Given the description of an element on the screen output the (x, y) to click on. 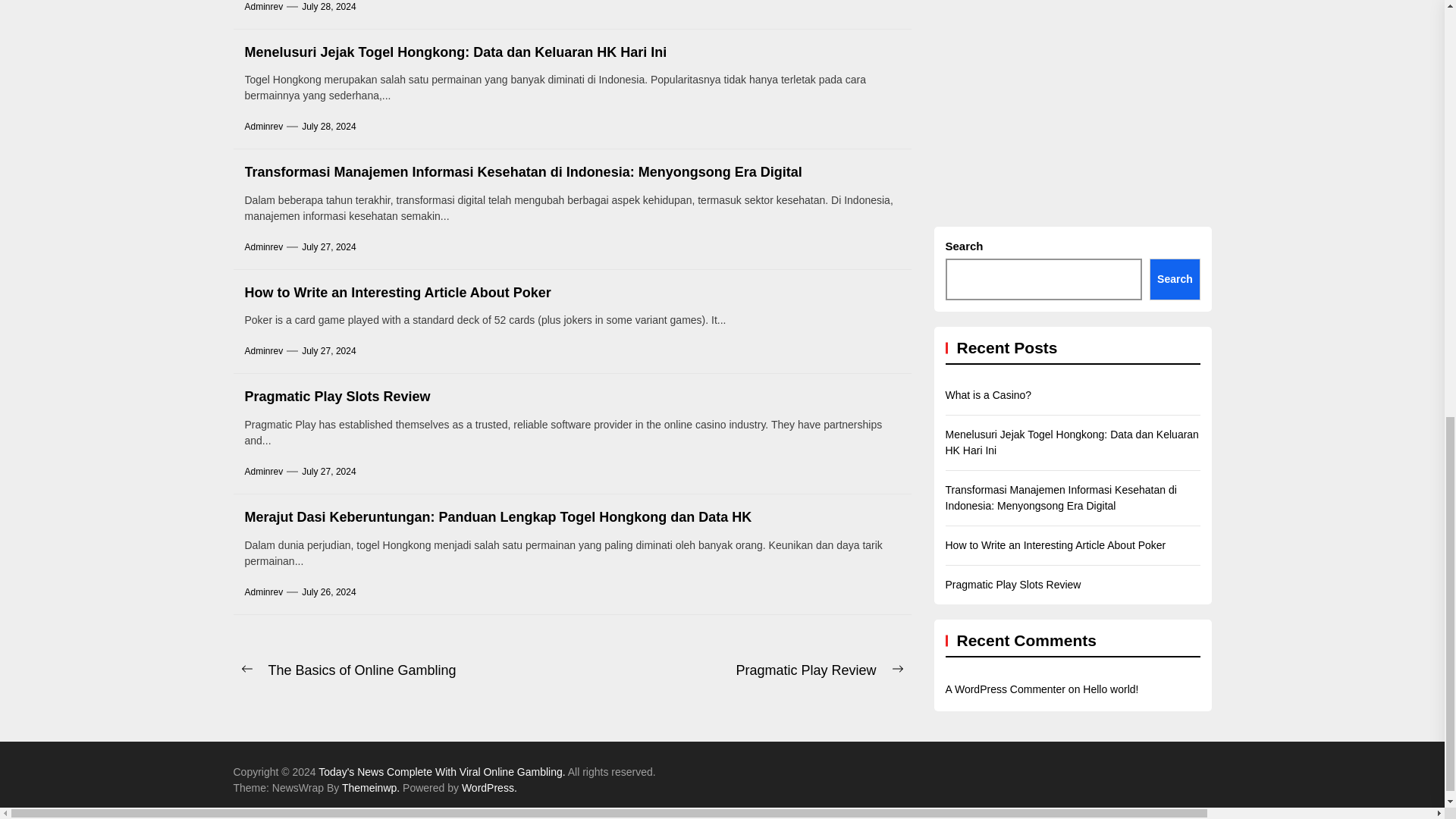
July 2022 (1439, 94)
October 2022 (1439, 54)
November 2022 (1439, 15)
